Given the description of an element on the screen output the (x, y) to click on. 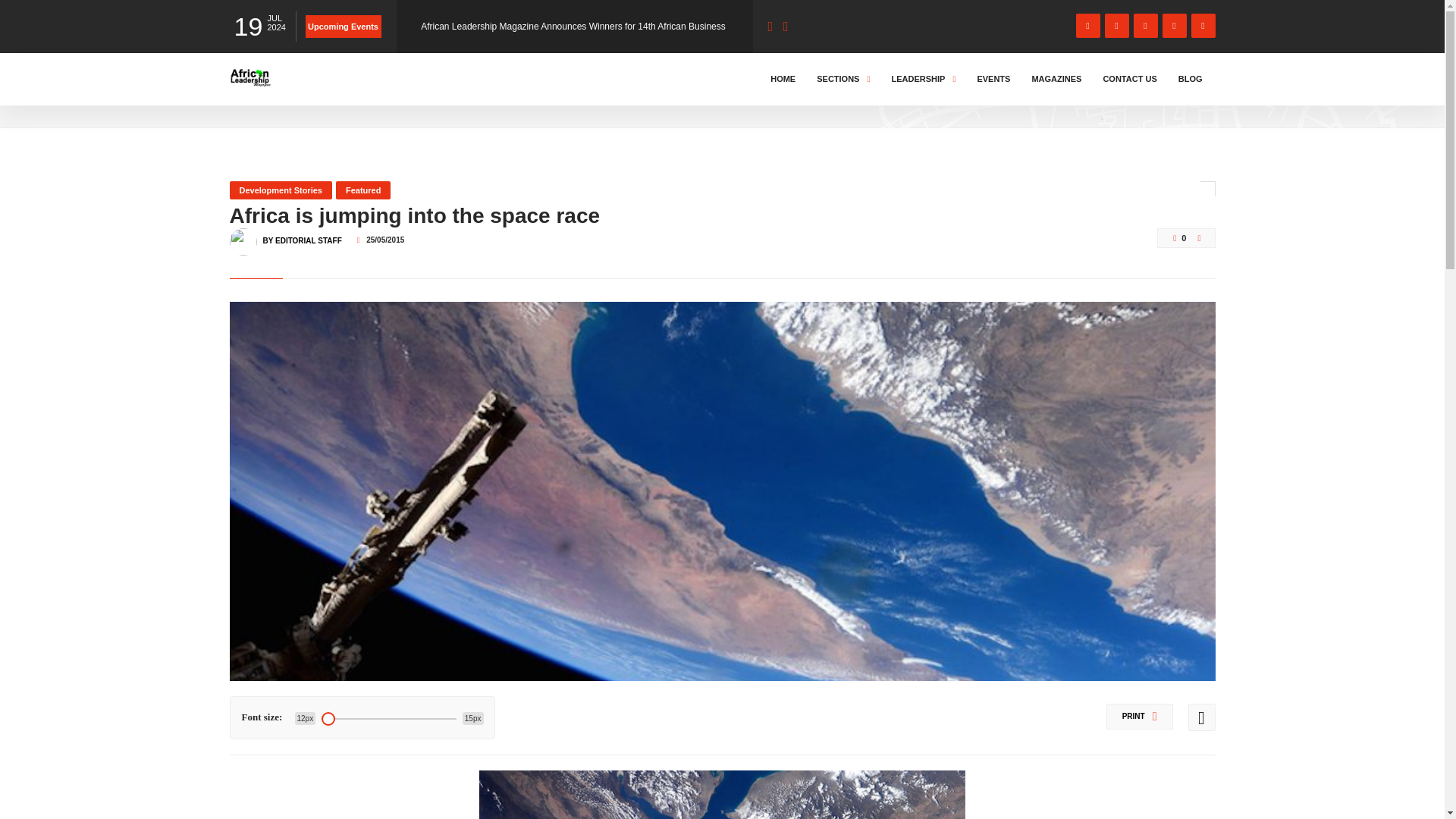
BLOG (1190, 79)
Featured (363, 189)
HOME (782, 79)
SECTIONS (842, 79)
Scroll Down To Discover (1154, 88)
HOME (246, 92)
BY EDITORIAL STAFF (301, 233)
Development Stories (279, 189)
EVENTS (992, 79)
MAGAZINES (1056, 79)
LEADERSHIP (922, 79)
BLOG (293, 92)
CONTACT US (1129, 79)
